Given the description of an element on the screen output the (x, y) to click on. 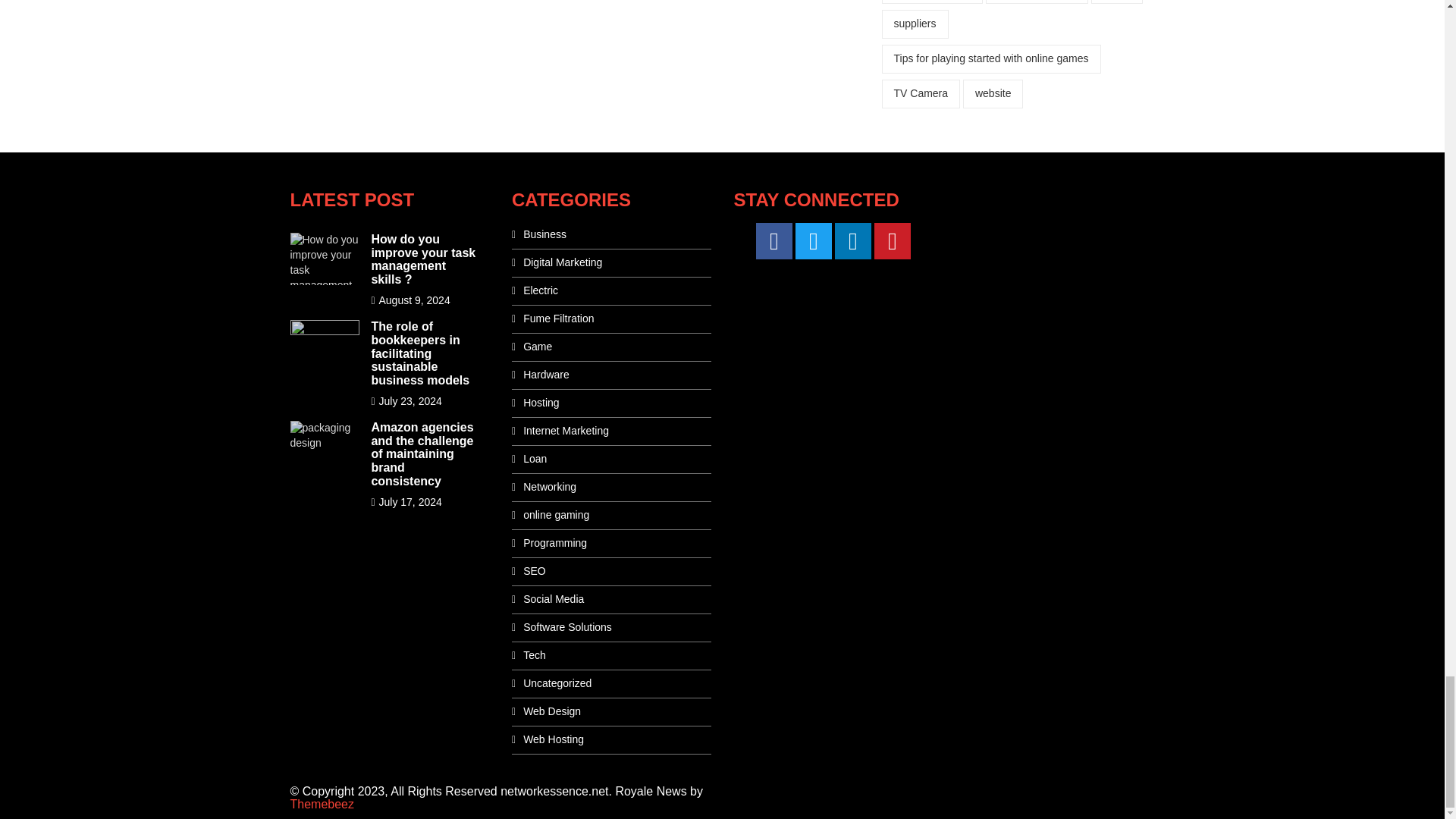
Facebook (773, 240)
Twitter (812, 240)
LinkedIn (852, 240)
Pinterest (893, 240)
